Given the description of an element on the screen output the (x, y) to click on. 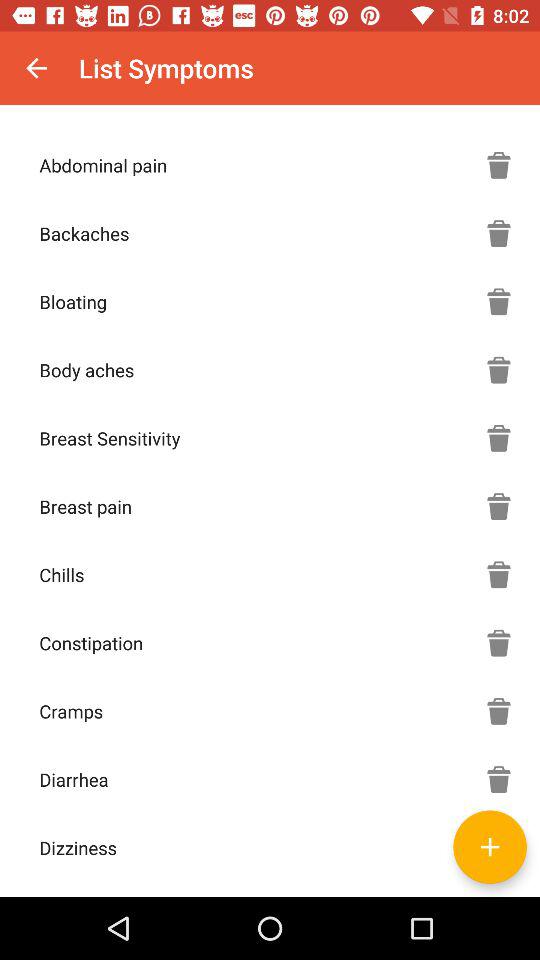
delete symptom (499, 165)
